Given the description of an element on the screen output the (x, y) to click on. 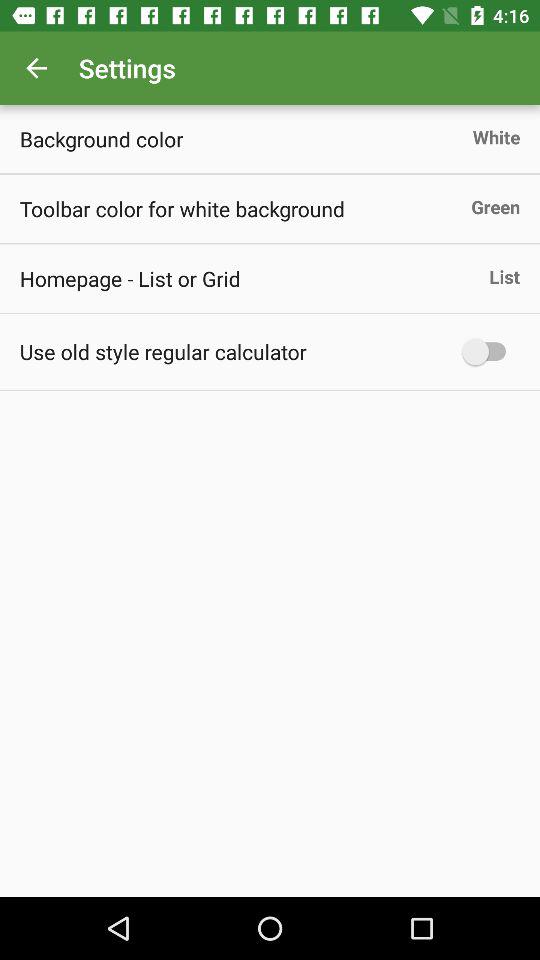
select icon to the right of toolbar color for icon (495, 206)
